Given the description of an element on the screen output the (x, y) to click on. 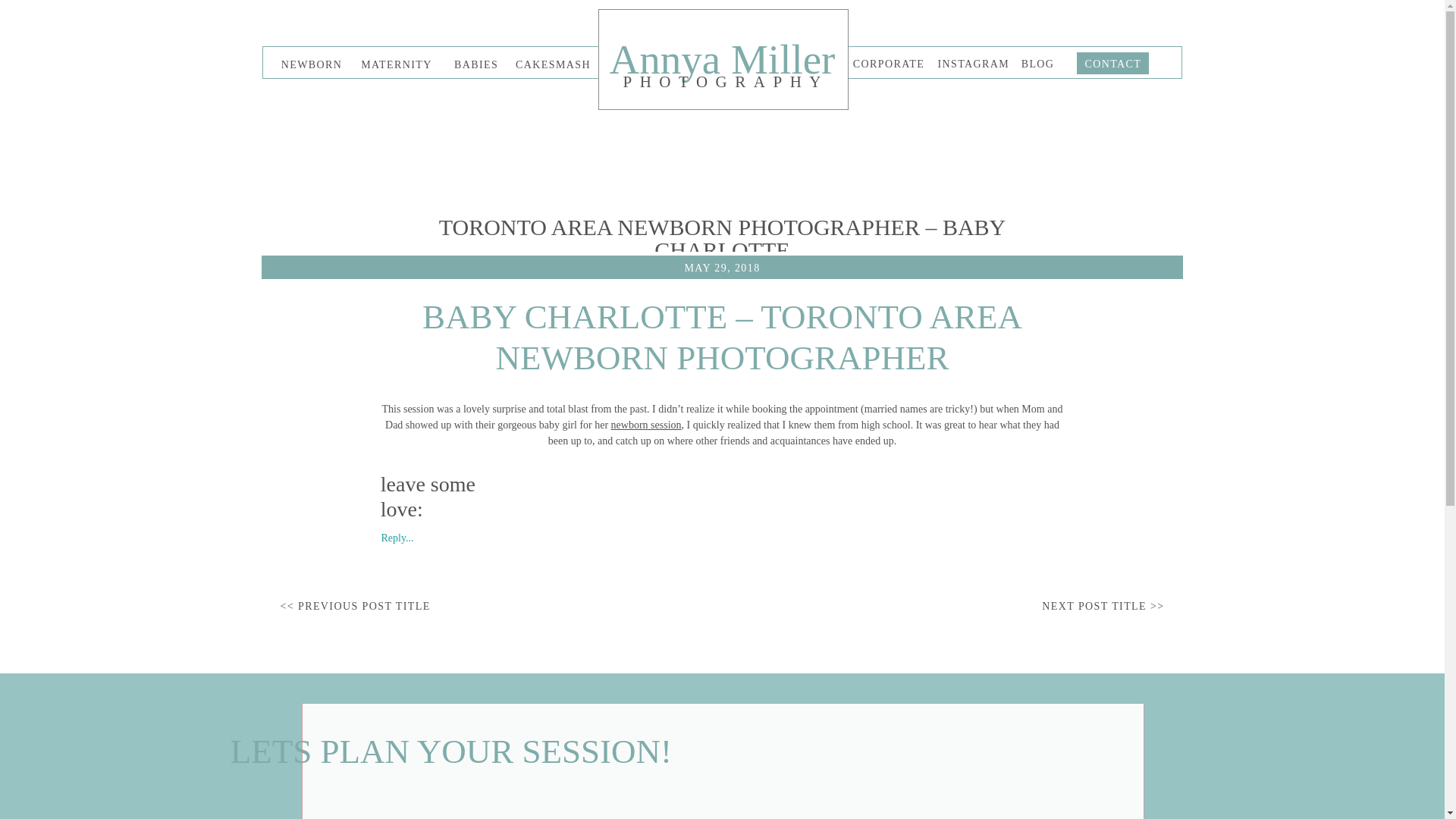
BABIES (476, 64)
BLOG (1037, 63)
CAKESMASH (552, 64)
INSTAGRAM (970, 63)
CORPORATE (888, 63)
NEWBORN (310, 64)
Annya Miller (722, 60)
MATERNITY (395, 64)
CONTACT (1109, 63)
newborn session (646, 424)
